Given the description of an element on the screen output the (x, y) to click on. 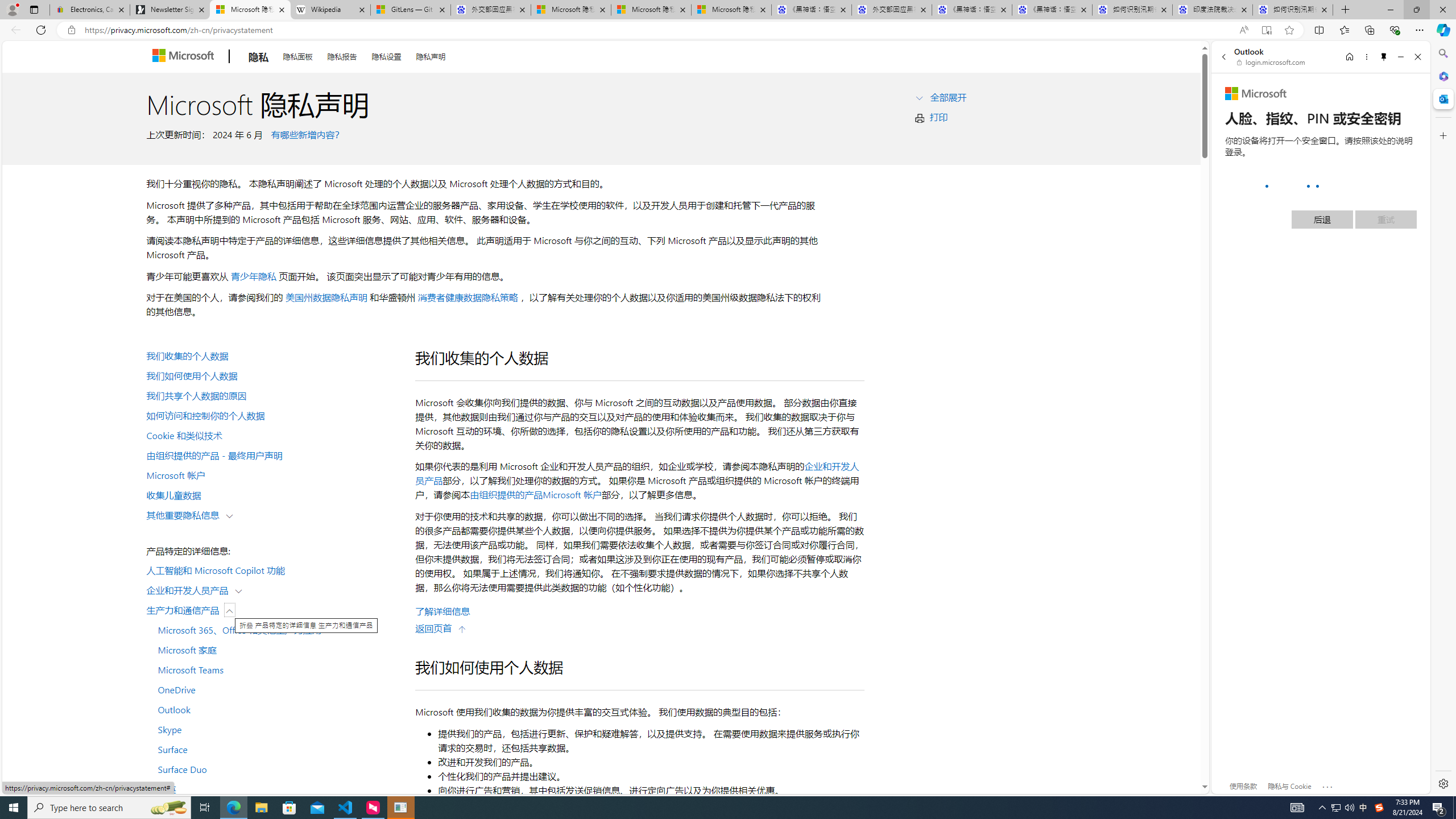
Surface (274, 749)
